Given the description of an element on the screen output the (x, y) to click on. 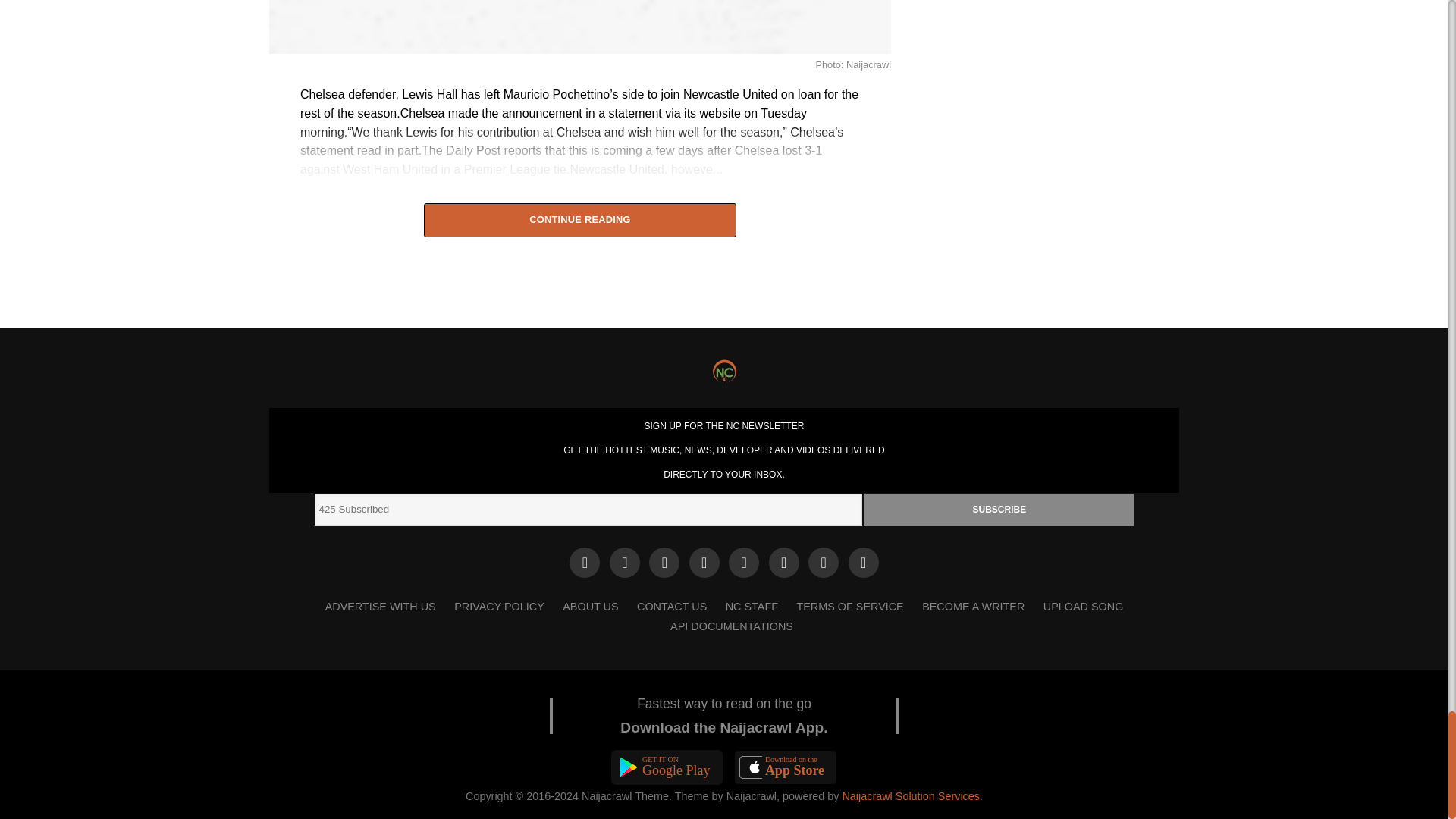
Google Play (667, 767)
Subscribe (999, 509)
App Store (785, 767)
